Given the description of an element on the screen output the (x, y) to click on. 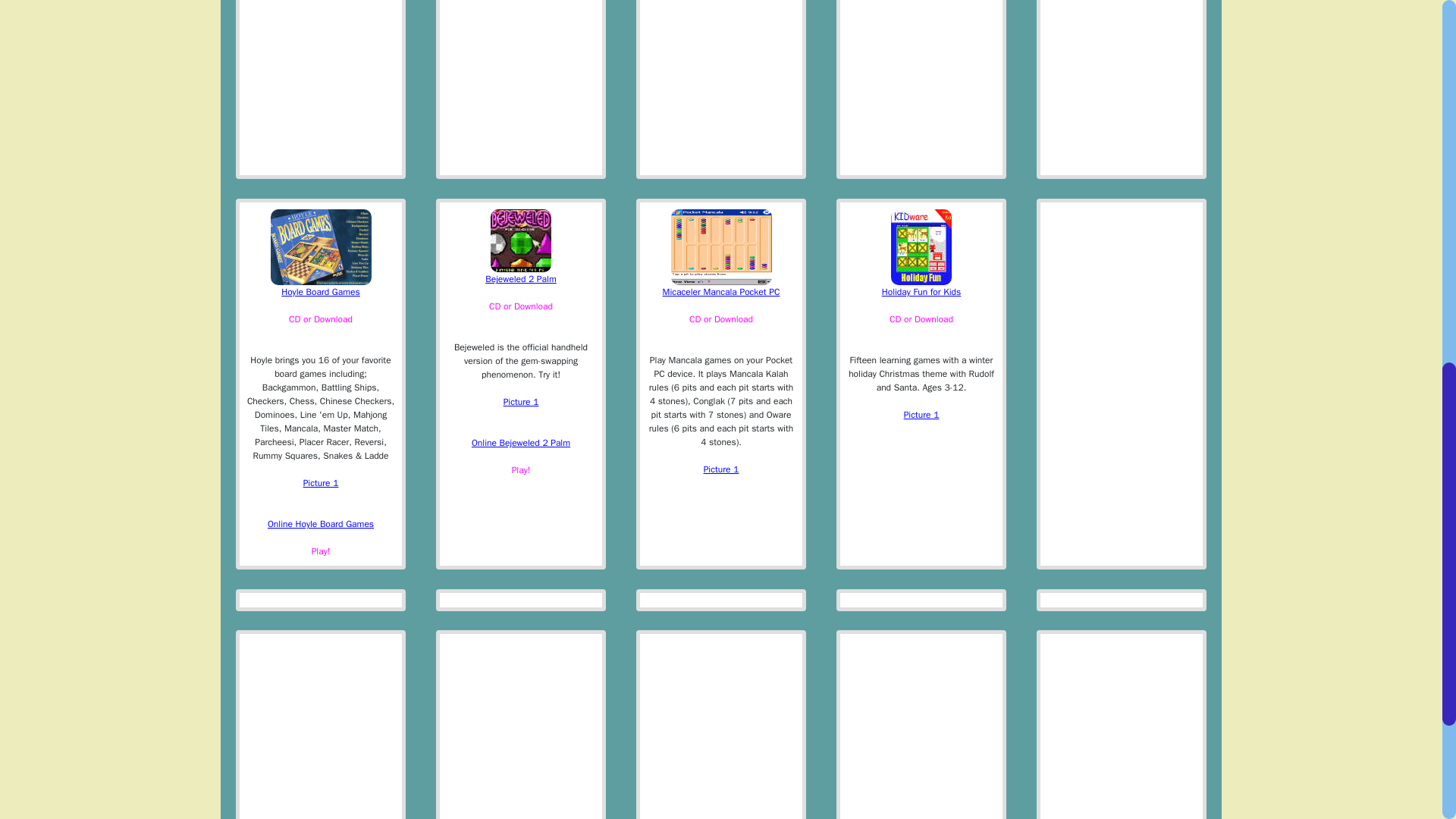
Bejeweled 2 Palm 1 (520, 401)
Micaceler Mancala Pocket PC 1 (720, 468)
hoyle board game (320, 482)
Holiday Fun find Rudolph red nose (921, 414)
